Given the description of an element on the screen output the (x, y) to click on. 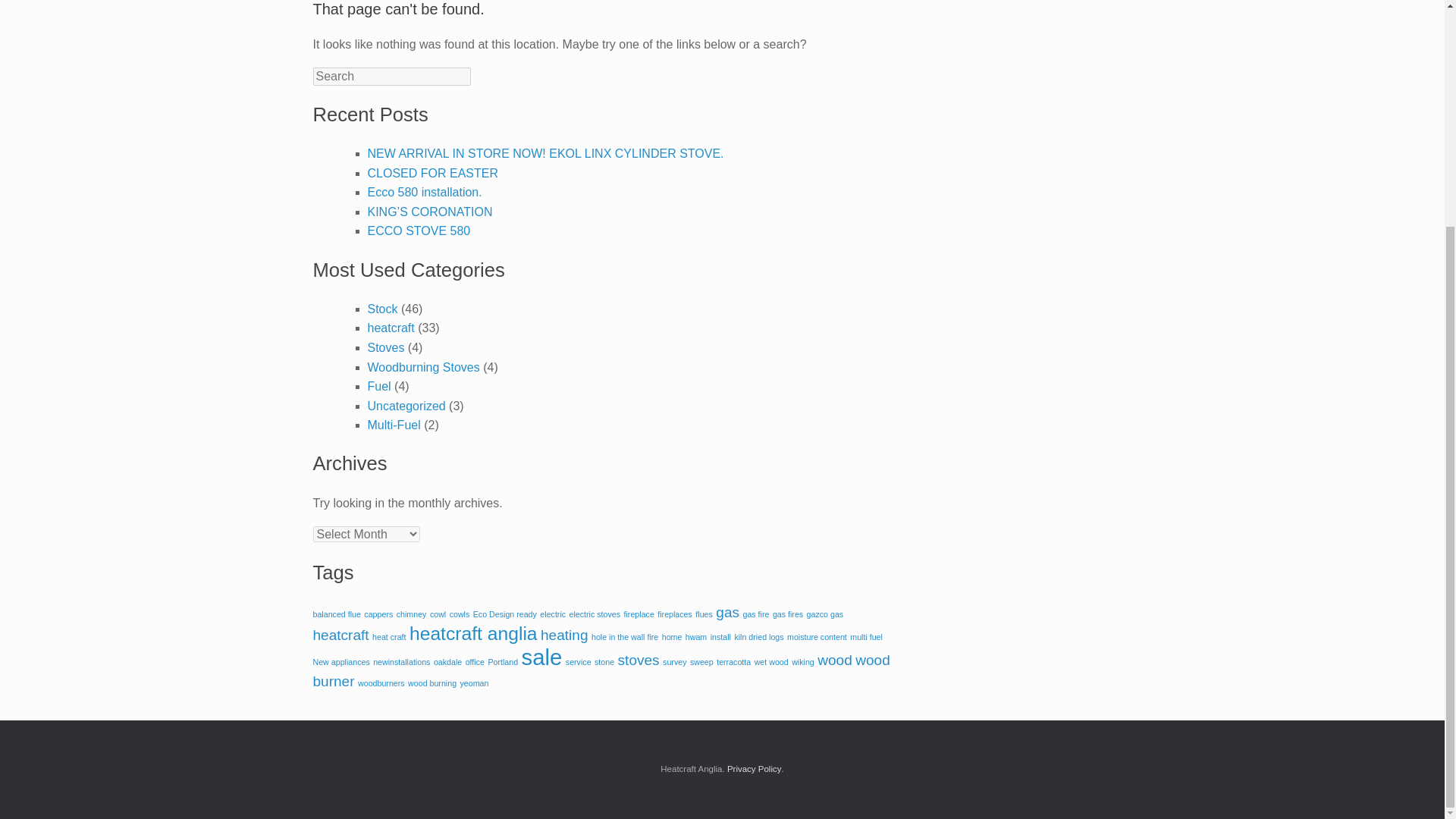
Woodburning Stoves (422, 366)
Stock (381, 308)
Ecco 580 installation. (423, 192)
Fuel (378, 386)
NEW ARRIVAL IN STORE NOW! EKOL LINX CYLINDER STOVE. (544, 153)
Stoves (385, 347)
CLOSED FOR EASTER (431, 173)
heatcraft (389, 327)
ECCO STOVE 580 (418, 230)
